Given the description of an element on the screen output the (x, y) to click on. 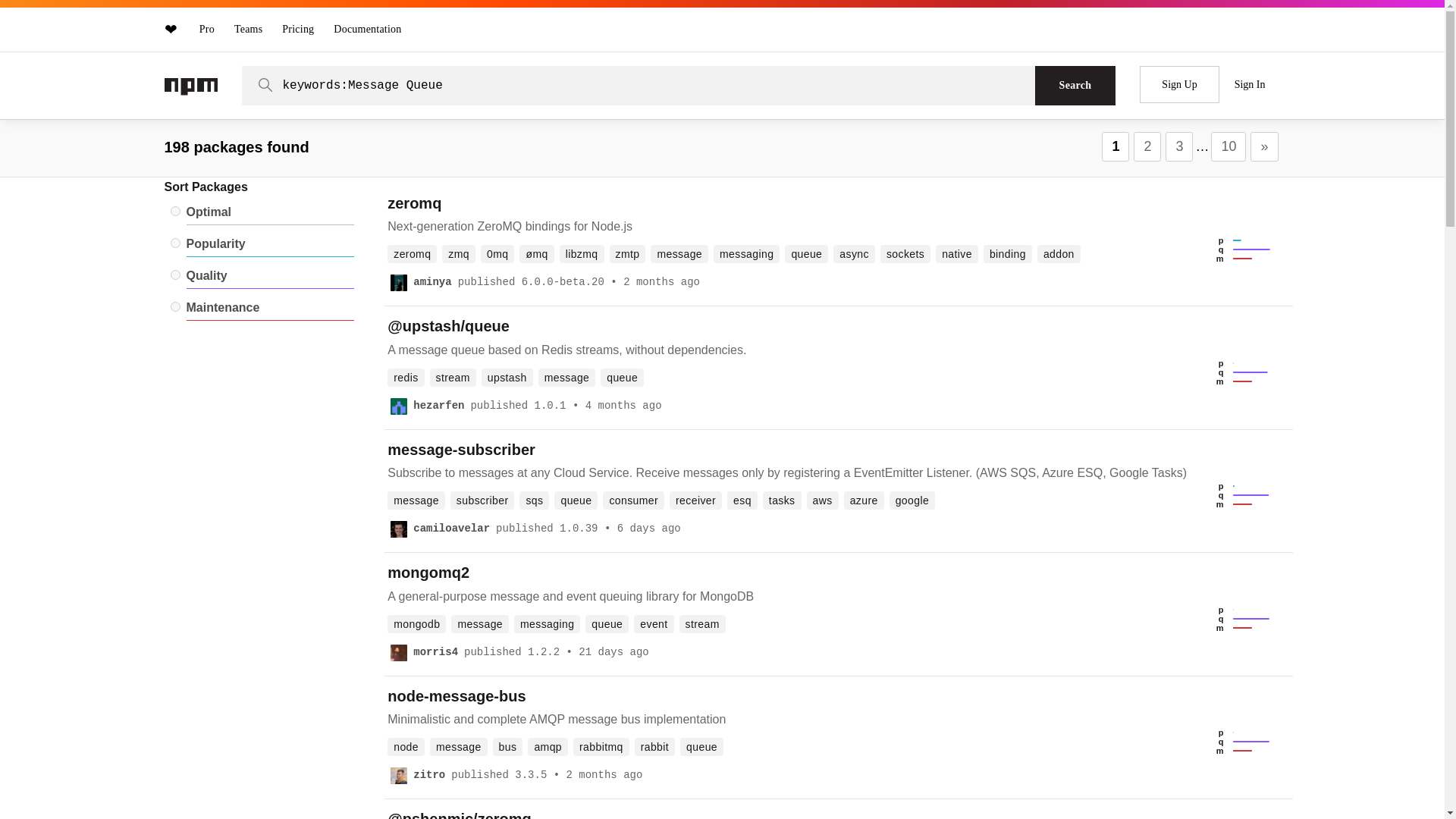
Pro (207, 29)
Search (1075, 85)
zmtp (628, 253)
message (678, 253)
1 (1115, 146)
aminya (432, 285)
redis (405, 377)
addon (1058, 253)
3 (1179, 146)
0mq (496, 253)
Sign In (1249, 84)
zeromq (411, 253)
queue (621, 377)
Sign Up (1179, 84)
queue (806, 253)
